Given the description of an element on the screen output the (x, y) to click on. 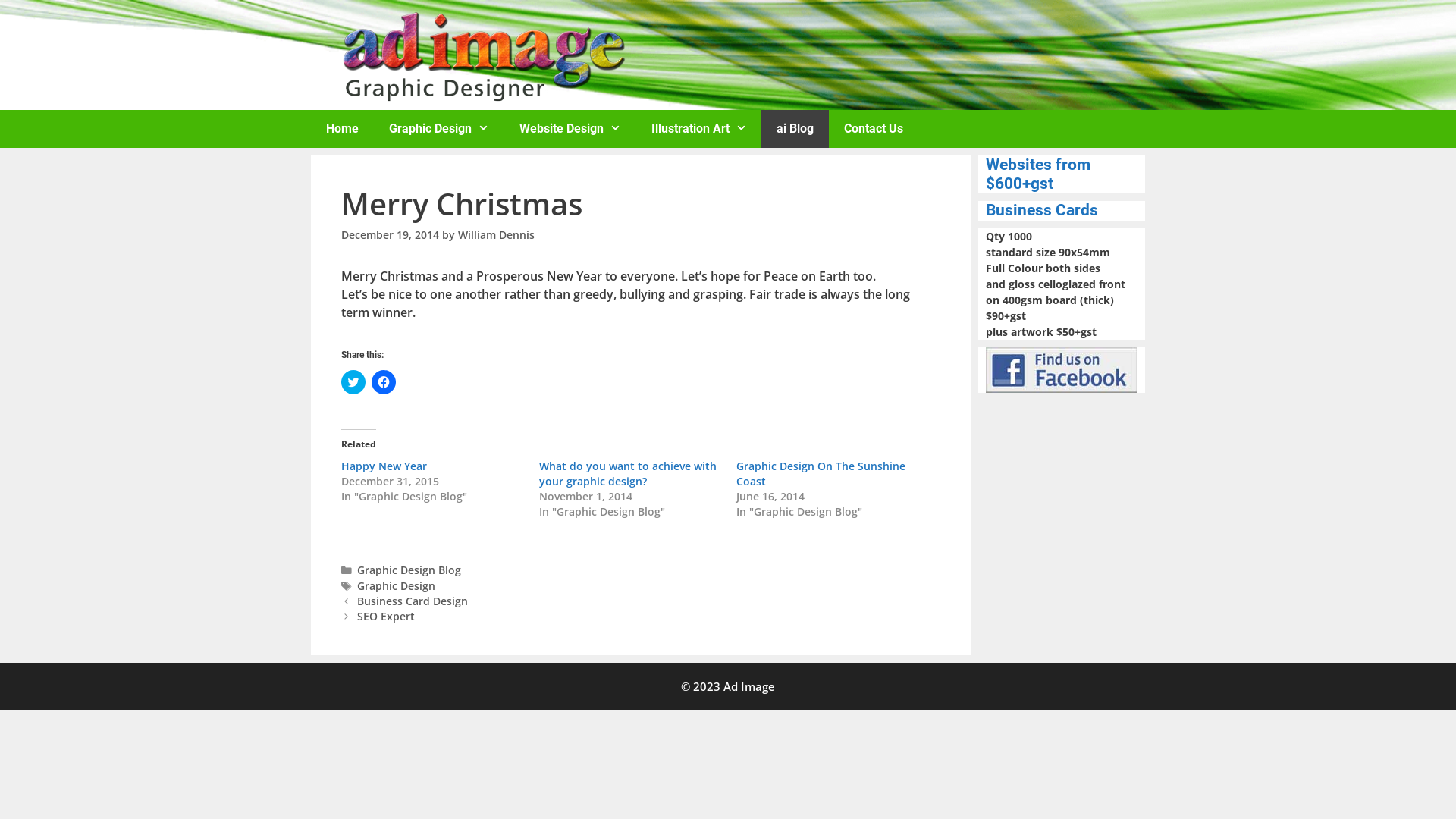
Home Element type: text (341, 128)
ai Blog Element type: text (794, 128)
Illustration Art Element type: text (699, 128)
Graphic Design Element type: text (396, 585)
Click to share on Twitter (Opens in new window) Element type: text (353, 382)
Happy New Year Element type: text (383, 465)
Graphic Design On The Sunshine Coast Element type: text (820, 473)
Contact Us Element type: text (873, 128)
SEO Expert Element type: text (385, 615)
William Dennis Element type: text (496, 234)
Graphic Design Element type: text (438, 128)
Websites from $600+gst Element type: text (1037, 173)
Graphic Design Blog Element type: text (409, 569)
Website Design Element type: text (570, 128)
Click to share on Facebook (Opens in new window) Element type: text (383, 382)
What do you want to achieve with your graphic design? Element type: text (627, 473)
Business Card Design Element type: text (412, 600)
Business Cards Element type: text (1041, 209)
